Given the description of an element on the screen output the (x, y) to click on. 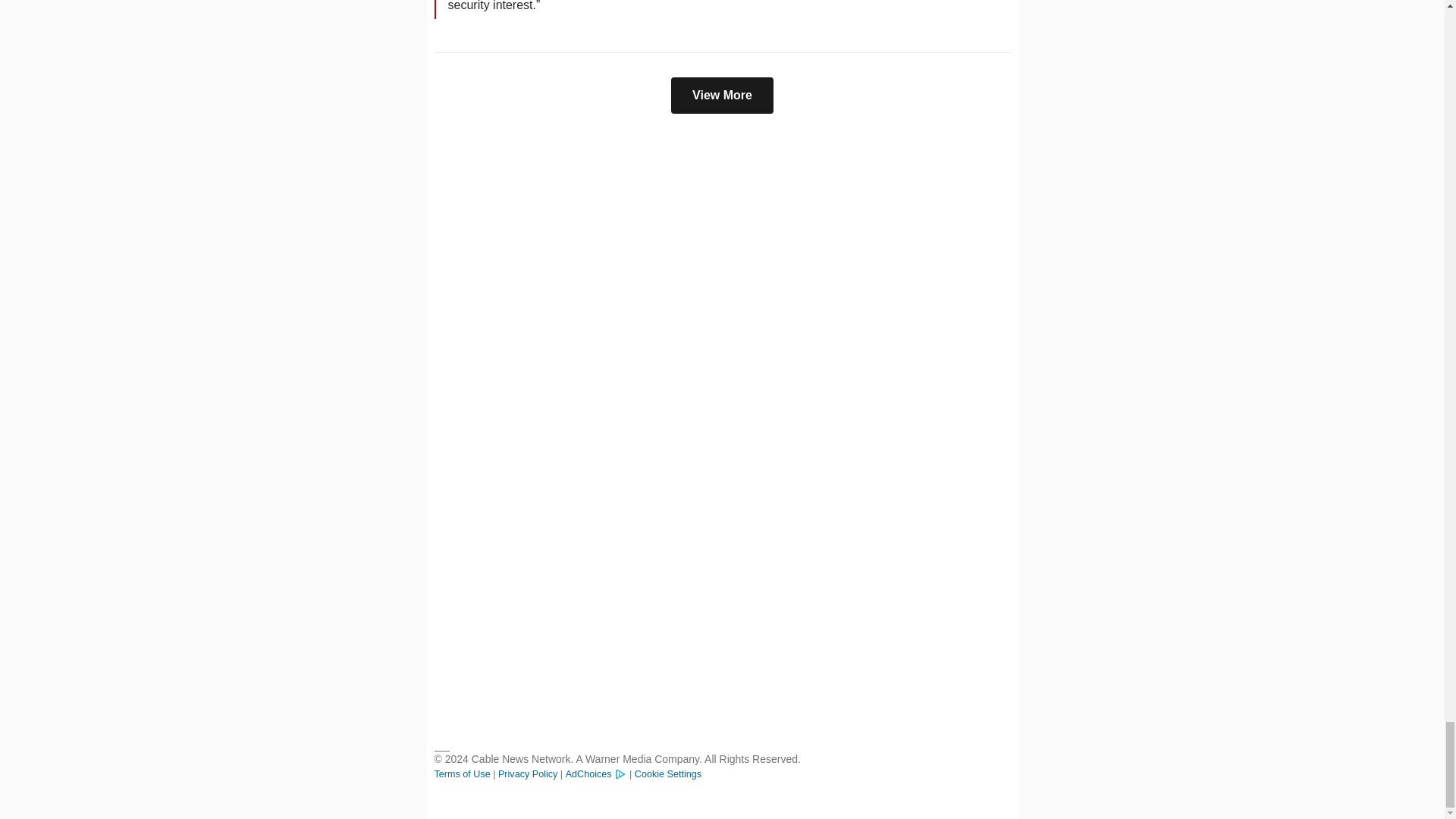
Cookie Settings (667, 774)
Privacy Policy (527, 774)
AdChoices (596, 774)
View More (722, 94)
Terms of Use (463, 774)
